Given the description of an element on the screen output the (x, y) to click on. 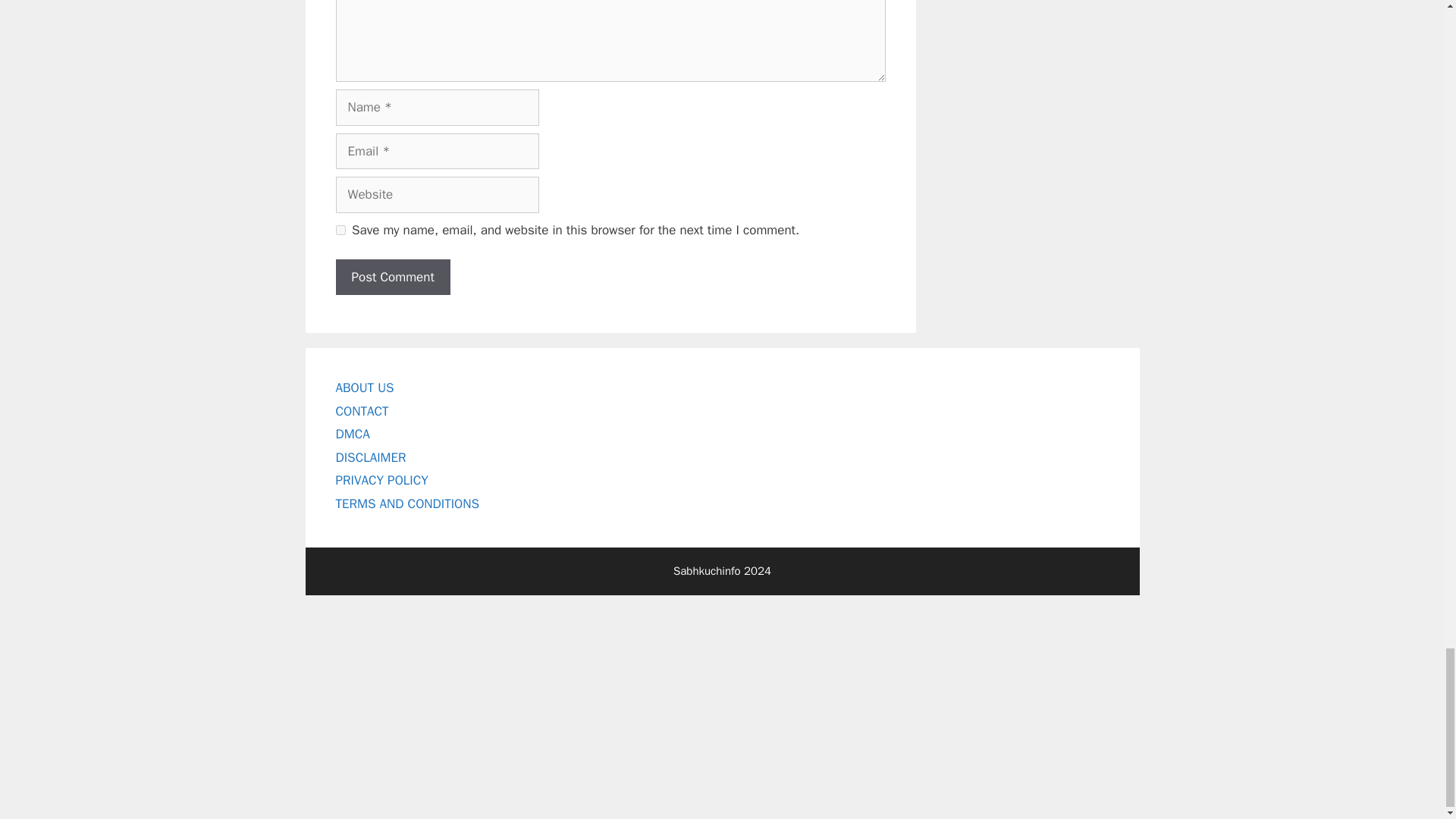
ABOUT US (363, 387)
Post Comment (391, 277)
TERMS AND CONDITIONS (406, 503)
Post Comment (391, 277)
PRIVACY POLICY (381, 480)
DMCA (351, 433)
CONTACT (361, 411)
DISCLAIMER (370, 457)
yes (339, 230)
